Given the description of an element on the screen output the (x, y) to click on. 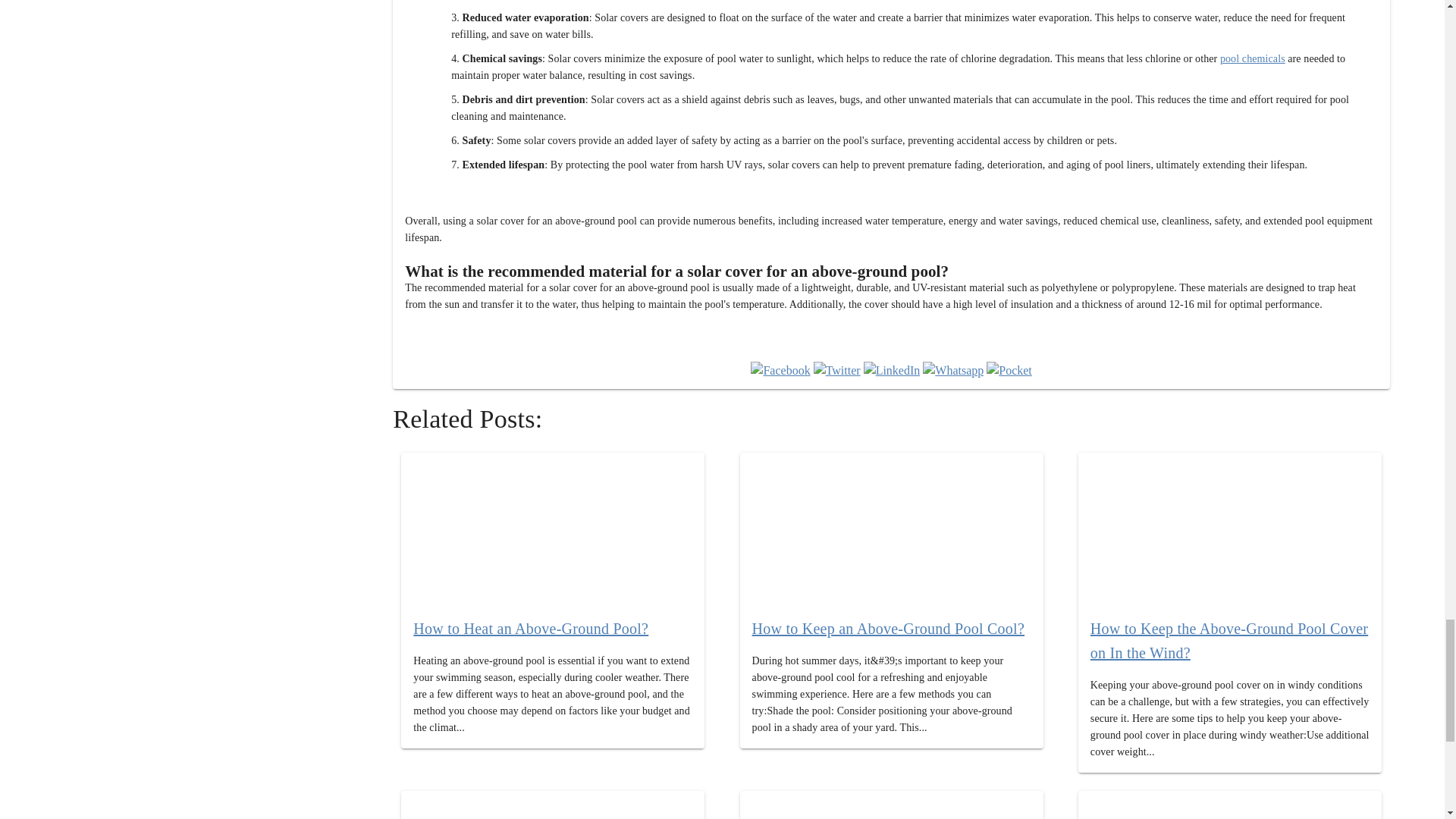
Twitter (836, 370)
Facebook (780, 370)
Whatsapp (953, 370)
LinkedIn (891, 370)
Pocket (1009, 370)
